Given the description of an element on the screen output the (x, y) to click on. 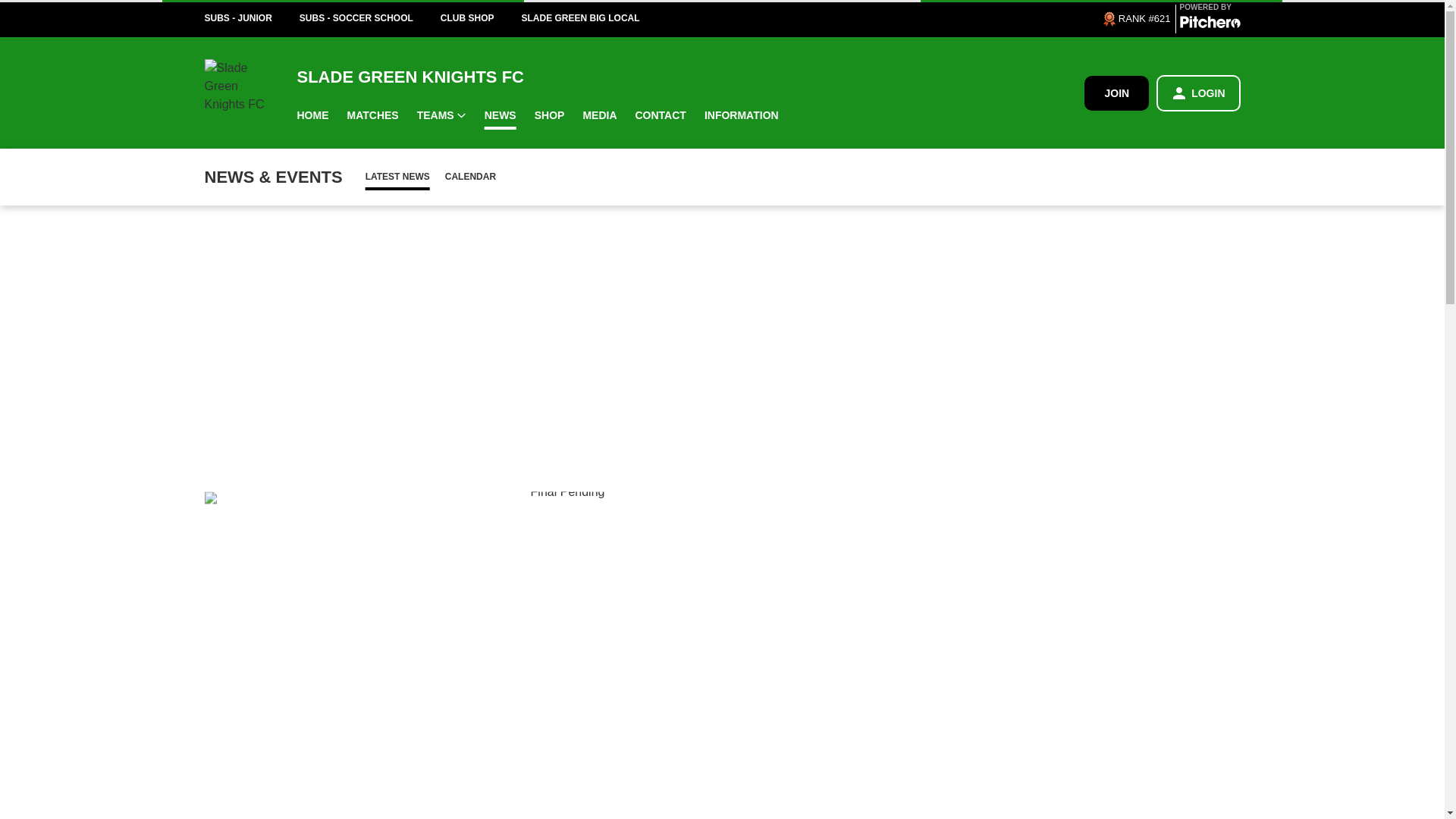
HOME (312, 115)
SUBS - SOCCER SCHOOL (370, 18)
MATCHES (372, 115)
SLADE GREEN KNIGHTS FC (690, 76)
CONTACT (660, 115)
SUBS - JUNIOR (252, 18)
Pitchero (1209, 24)
NEWS (500, 115)
CLUB SHOP (481, 18)
JOIN (1116, 92)
SLADE GREEN BIG LOCAL (593, 18)
LATEST NEWS (398, 176)
JOIN (1116, 93)
CALENDAR (470, 176)
LOGIN (1198, 93)
